Given the description of an element on the screen output the (x, y) to click on. 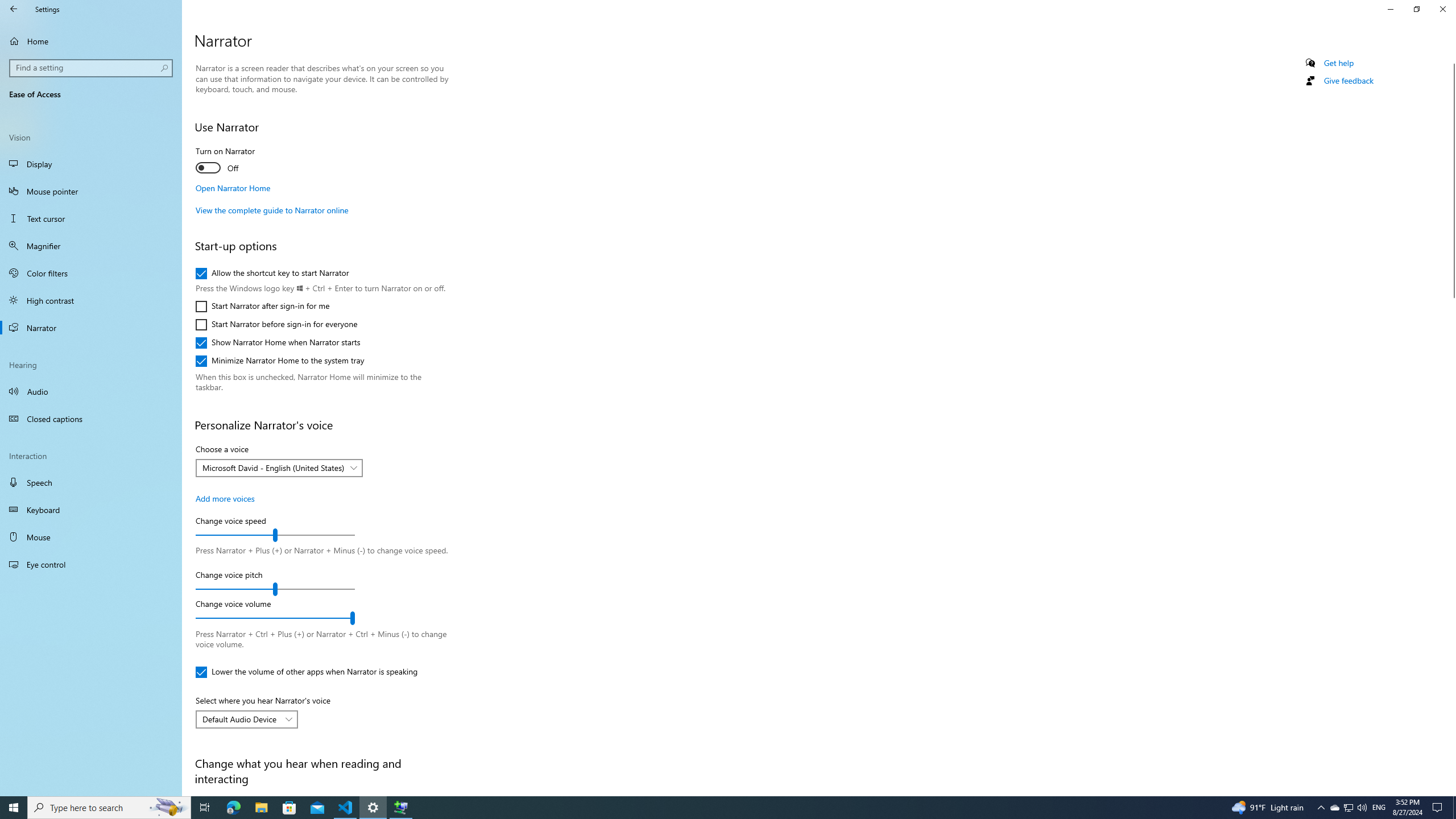
Settings - 1 running window (373, 807)
Vertical Small Increase (1451, 791)
Turn on Narrator (237, 160)
Show Narrator Home when Narrator starts (278, 343)
Display (1333, 807)
Mouse (91, 163)
Audio (91, 536)
Q2790: 100% (91, 390)
Narrator (1361, 807)
Vertical (91, 327)
Back (1451, 425)
Eye control (13, 9)
Type here to search (91, 564)
